Given the description of an element on the screen output the (x, y) to click on. 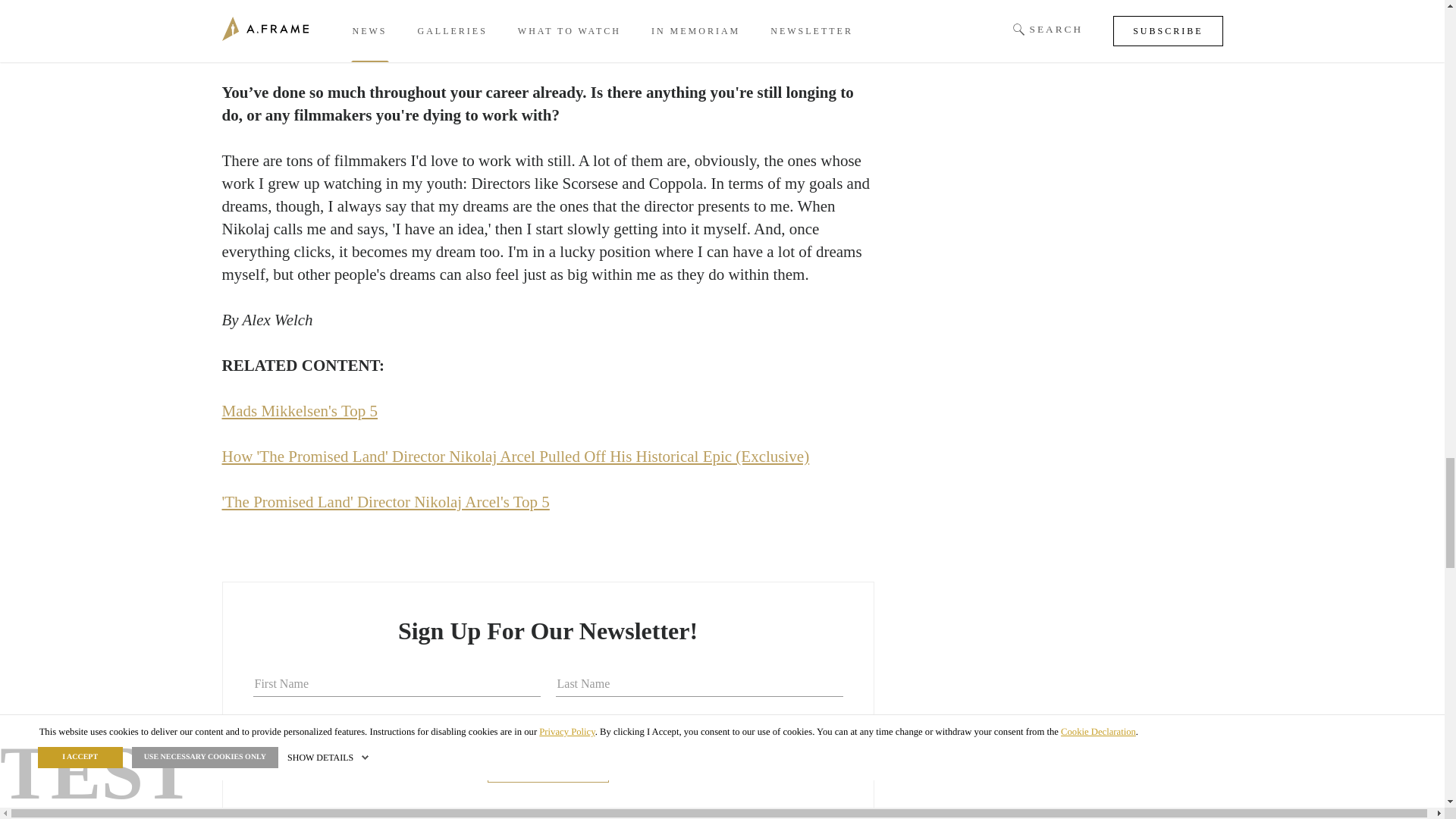
SIGN UP (547, 767)
